Given the description of an element on the screen output the (x, y) to click on. 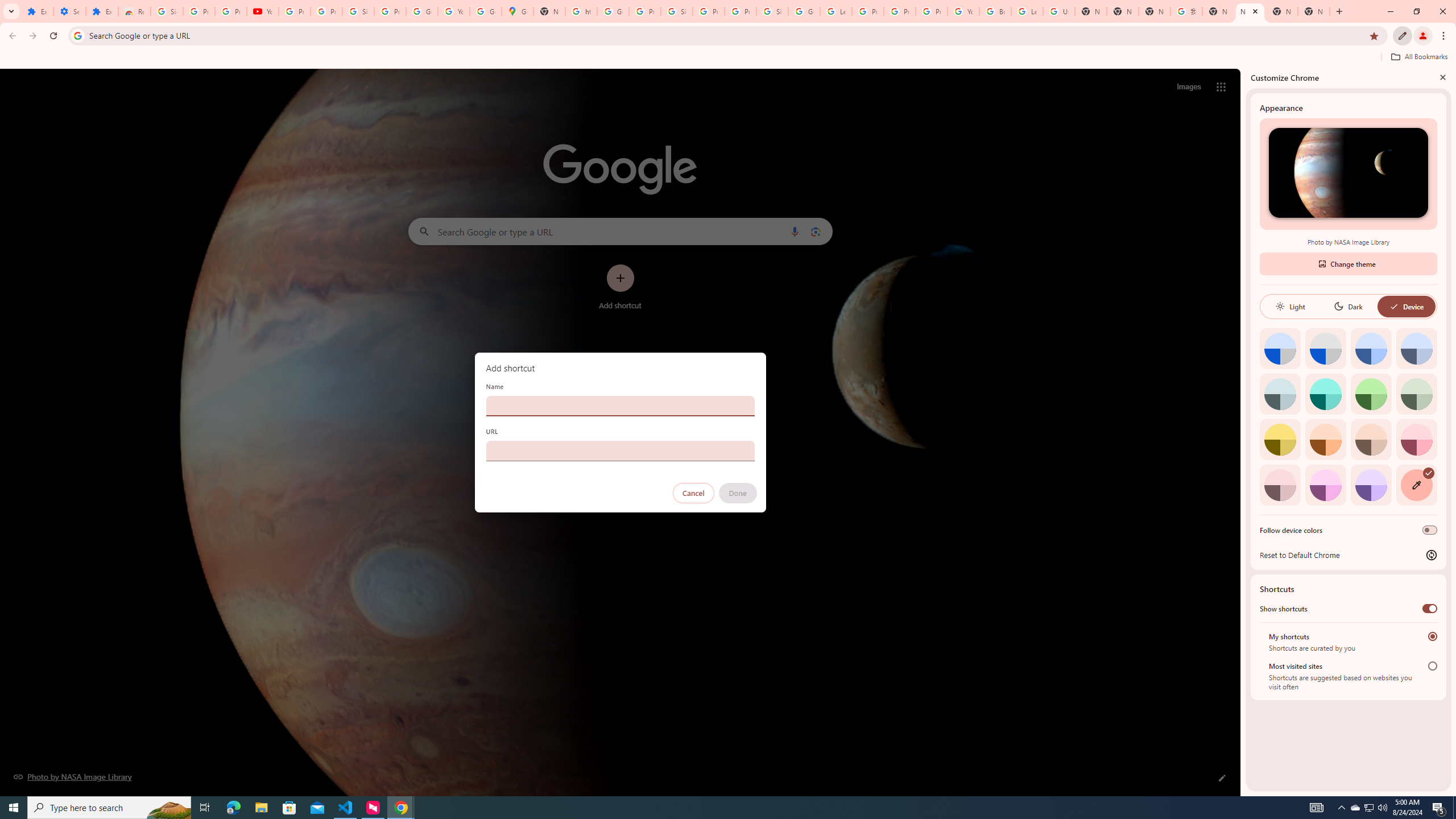
Cool grey (1416, 348)
Bookmarks (728, 58)
Violet (1371, 484)
Most visited sites (1432, 665)
AutomationID: svg (1428, 472)
Side Panel Resize Handle (1242, 431)
Done (737, 493)
Light (1289, 305)
Device (1406, 305)
Customize Chrome (1402, 35)
Follow device colors (1429, 529)
